Given the description of an element on the screen output the (x, y) to click on. 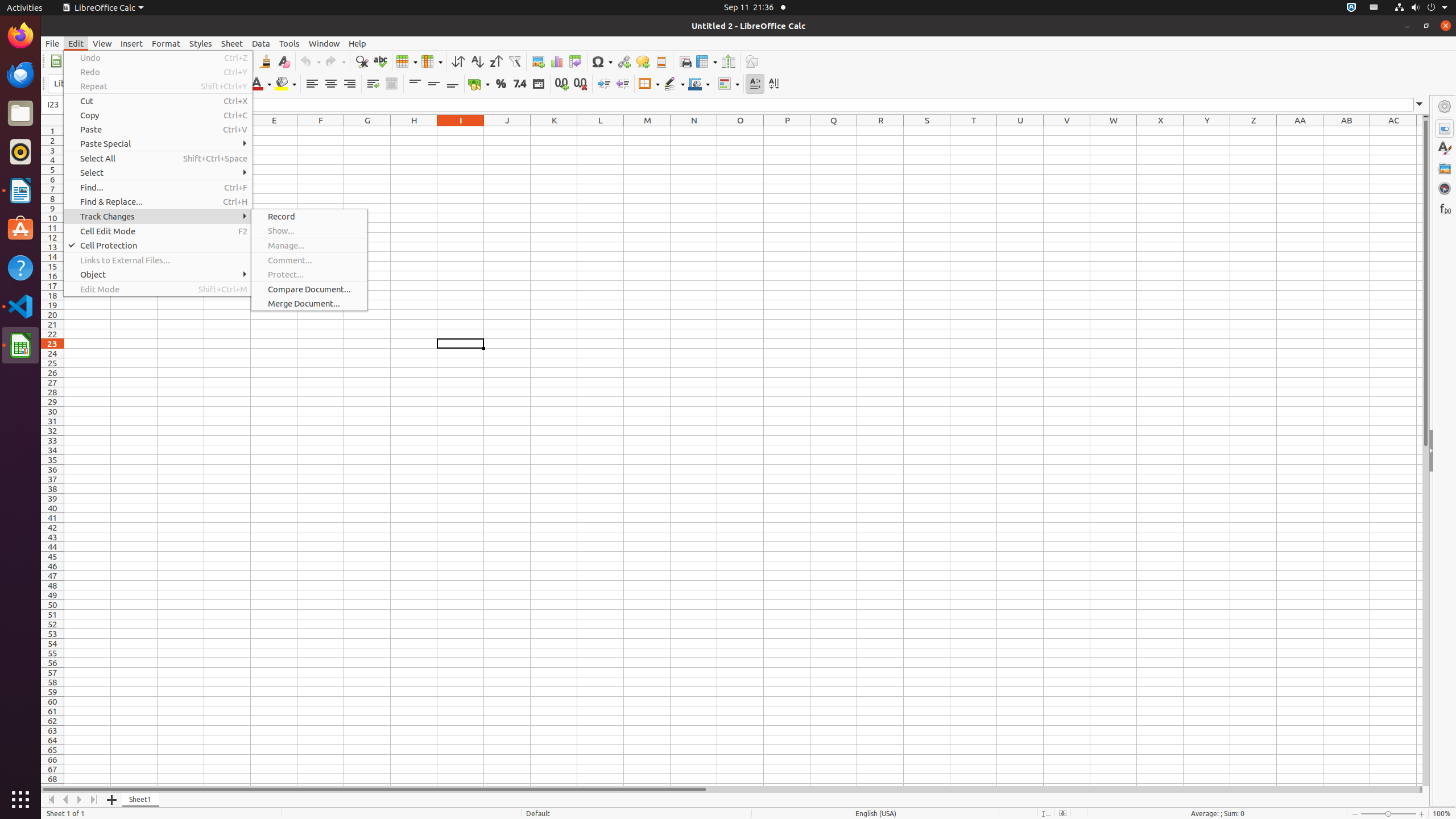
Clear Element type: push-button (283, 61)
Decrease Element type: push-button (622, 83)
Conditional Element type: push-button (728, 83)
Hyperlink Element type: toggle-button (623, 61)
Tools Element type: menu (289, 43)
